Given the description of an element on the screen output the (x, y) to click on. 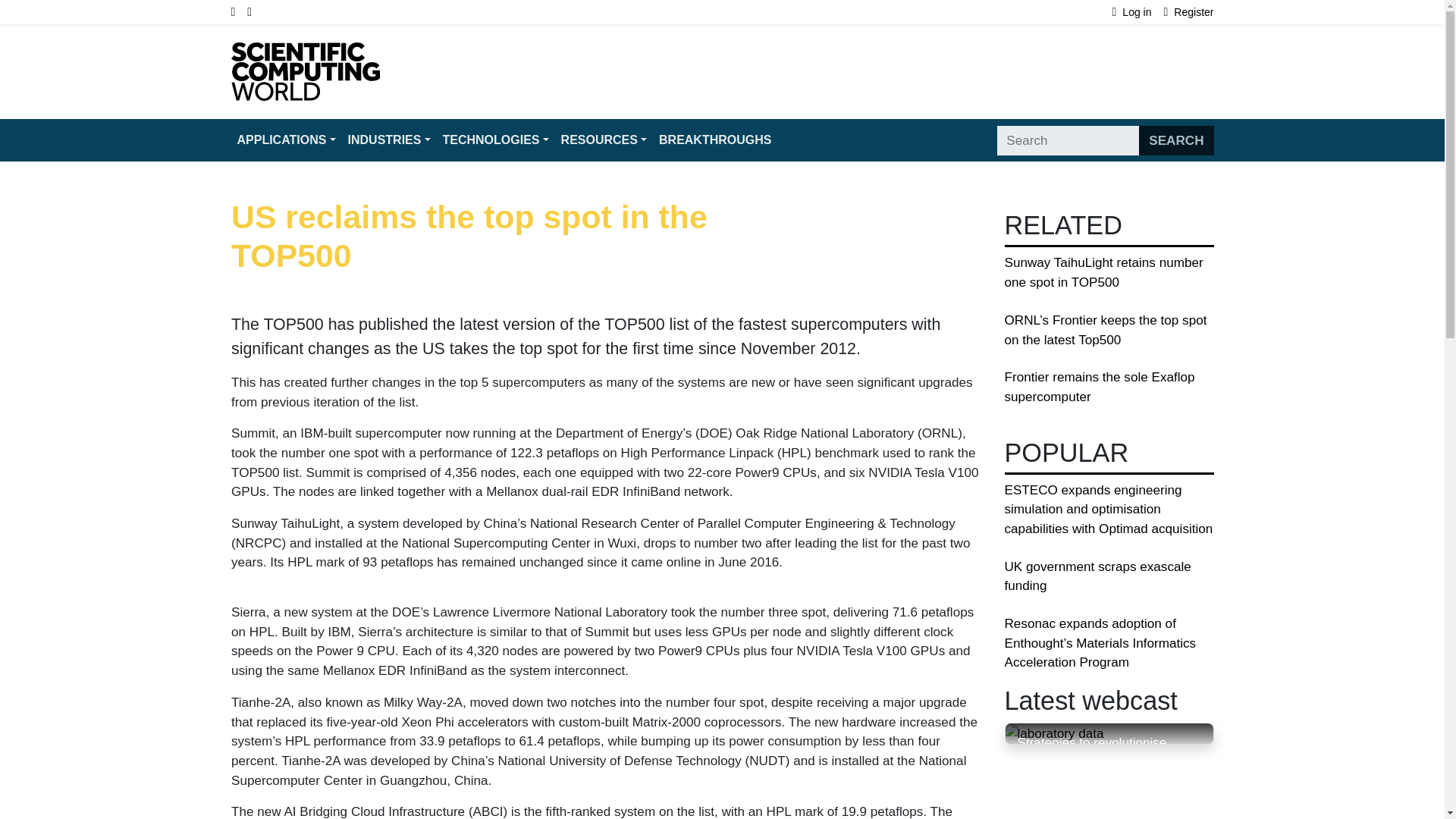
UK government scraps exascale funding (1097, 576)
Frontier remains the sole Exaflop supercomputer (1098, 387)
Register (1188, 12)
Home (304, 51)
BREAKTHROUGHS (714, 140)
Log in (1137, 12)
Sunway TaihuLight retains number one spot in TOP500 (1103, 272)
SEARCH (1175, 141)
